Given the description of an element on the screen output the (x, y) to click on. 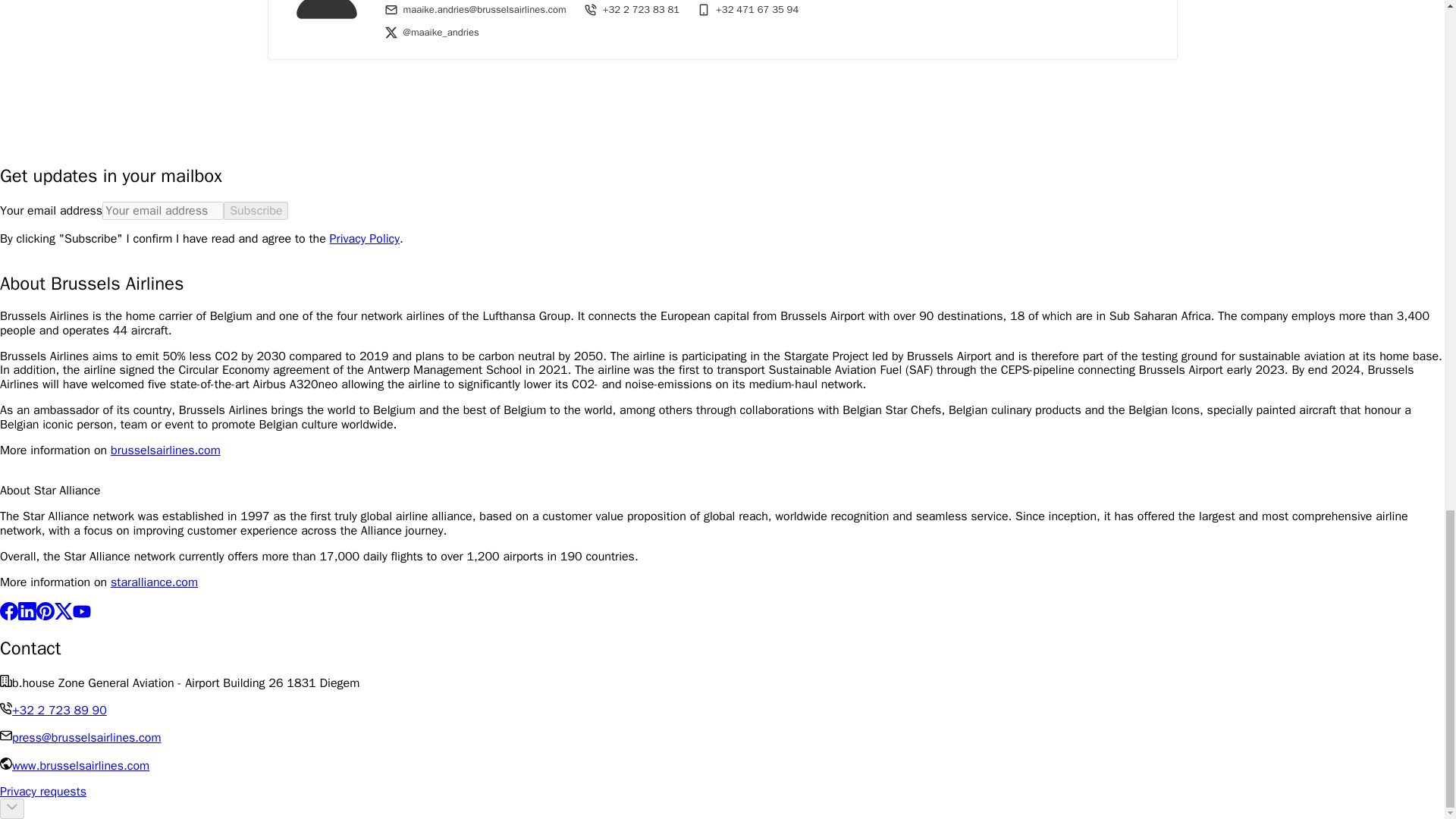
Privacy Policy (364, 238)
staralliance.com (154, 581)
www.brusselsairlines.com (80, 765)
brusselsairlines.com (165, 450)
Privacy requests (42, 791)
Maaike Andries (326, 14)
Subscribe (256, 210)
